Given the description of an element on the screen output the (x, y) to click on. 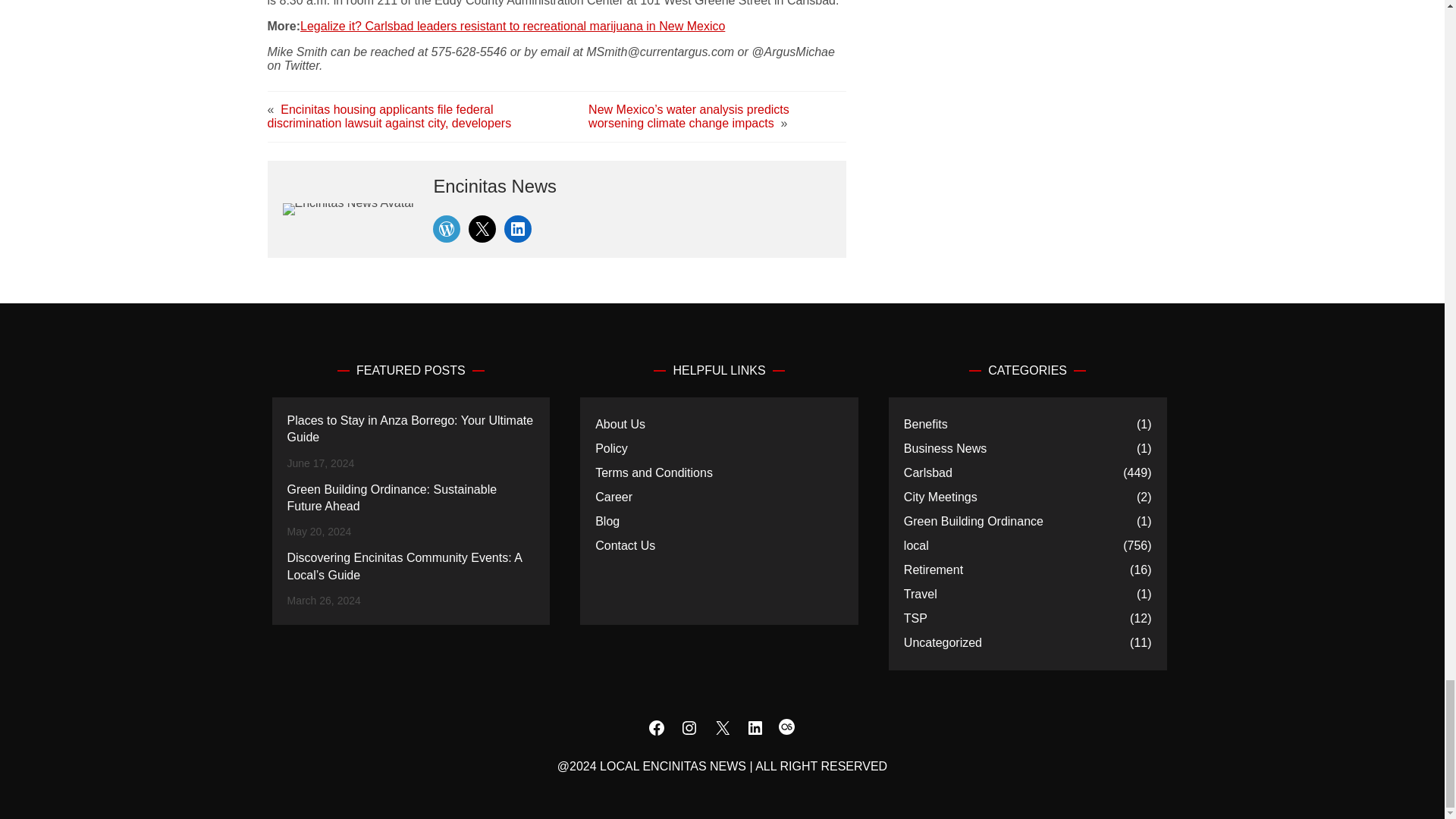
X (482, 228)
WordPress (446, 228)
LinkedIn (517, 228)
